Given the description of an element on the screen output the (x, y) to click on. 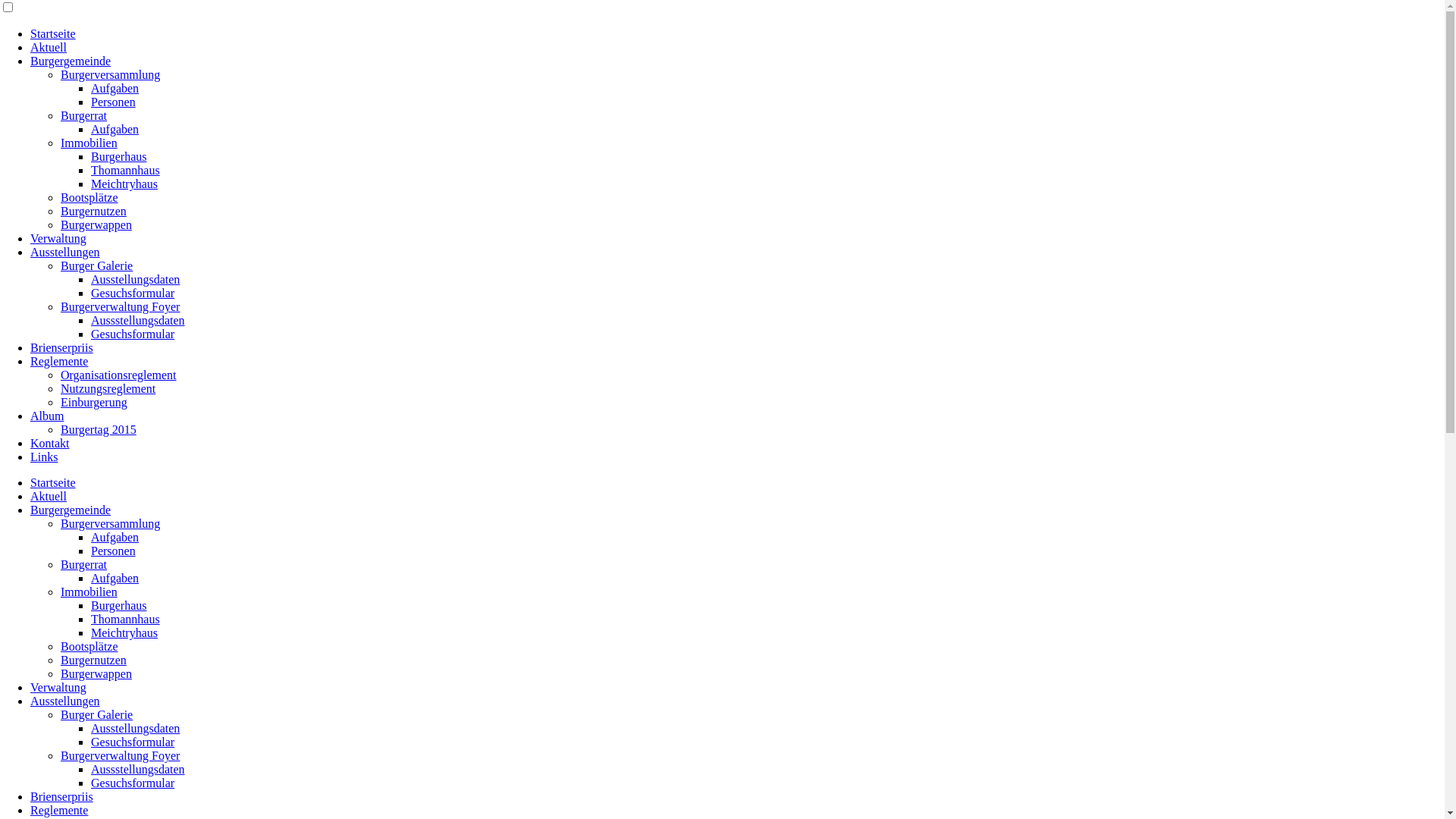
Aussstellungsdaten Element type: text (138, 768)
Immobilien Element type: text (88, 591)
Brienserpriis Element type: text (61, 796)
Brienserpriis Element type: text (61, 347)
Burgerversammlung Element type: text (110, 74)
Startseite Element type: text (52, 482)
Organisationsreglement Element type: text (118, 374)
Aktuell Element type: text (48, 495)
Burgerrat Element type: text (83, 564)
Verwaltung Element type: text (58, 238)
Ausstellungen Element type: text (65, 700)
Burgerverwaltung Foyer Element type: text (119, 306)
Startseite Element type: text (52, 33)
Kontakt Element type: text (49, 442)
Gesuchsformular Element type: text (132, 292)
Ausstellungsdaten Element type: text (135, 279)
Aufgaben Element type: text (114, 87)
Burgerversammlung Element type: text (110, 523)
Thomannhaus Element type: text (125, 169)
Aktuell Element type: text (48, 46)
Thomannhaus Element type: text (125, 618)
Burgertag 2015 Element type: text (98, 429)
Burgerverwaltung Foyer Element type: text (119, 755)
Aussstellungsdaten Element type: text (138, 319)
Aufgaben Element type: text (114, 536)
Verwaltung Element type: text (58, 686)
Gesuchsformular Element type: text (132, 741)
Meichtryhaus Element type: text (124, 183)
Personen Element type: text (113, 101)
Burger Galerie Element type: text (96, 265)
Personen Element type: text (113, 550)
Nutzungsreglement Element type: text (107, 388)
Burger Galerie Element type: text (96, 714)
Ausstellungsdaten Element type: text (135, 727)
Reglemente Element type: text (58, 360)
Einburgerung Element type: text (93, 401)
Aufgaben Element type: text (114, 128)
Burgerwappen Element type: text (95, 224)
Burgergemeinde Element type: text (70, 509)
Ausstellungen Element type: text (65, 251)
Reglemente Element type: text (58, 809)
Immobilien Element type: text (88, 142)
Gesuchsformular Element type: text (132, 333)
Burgerrat Element type: text (83, 115)
Burgernutzen Element type: text (93, 210)
Album Element type: text (46, 415)
Links Element type: text (43, 456)
Burgerhaus Element type: text (118, 156)
Burgerhaus Element type: text (118, 605)
Burgergemeinde Element type: text (70, 60)
Gesuchsformular Element type: text (132, 782)
Meichtryhaus Element type: text (124, 632)
Burgernutzen Element type: text (93, 659)
Burgerwappen Element type: text (95, 673)
Aufgaben Element type: text (114, 577)
